Given the description of an element on the screen output the (x, y) to click on. 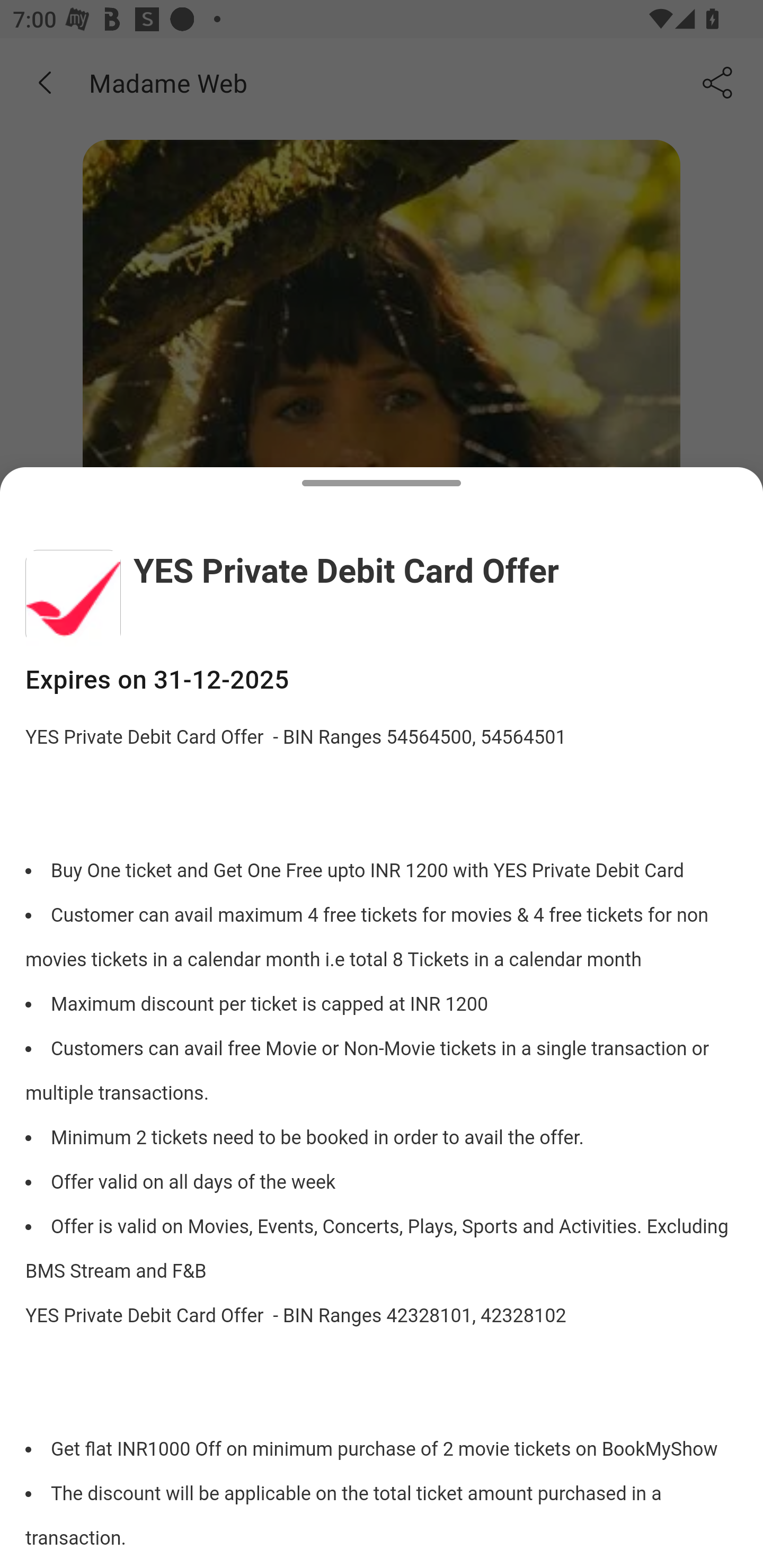
Expires on 31-12-2025 (381, 680)
